Given the description of an element on the screen output the (x, y) to click on. 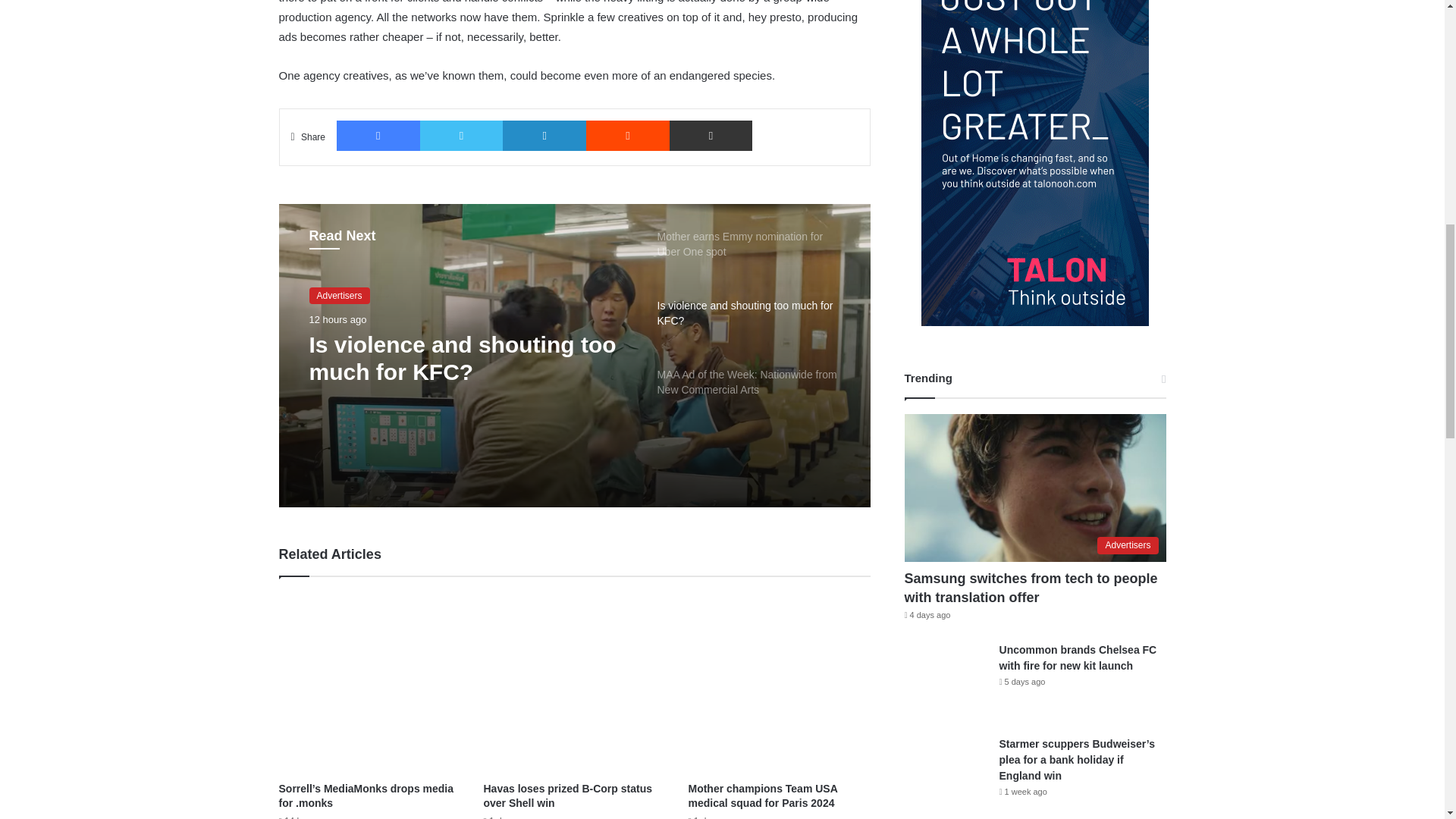
Share via Email (710, 135)
Reddit (627, 135)
Twitter (461, 135)
LinkedIn (544, 135)
Facebook (378, 135)
Facebook (378, 135)
Reddit (627, 135)
LinkedIn (544, 135)
Share via Email (710, 135)
Twitter (461, 135)
